Given the description of an element on the screen output the (x, y) to click on. 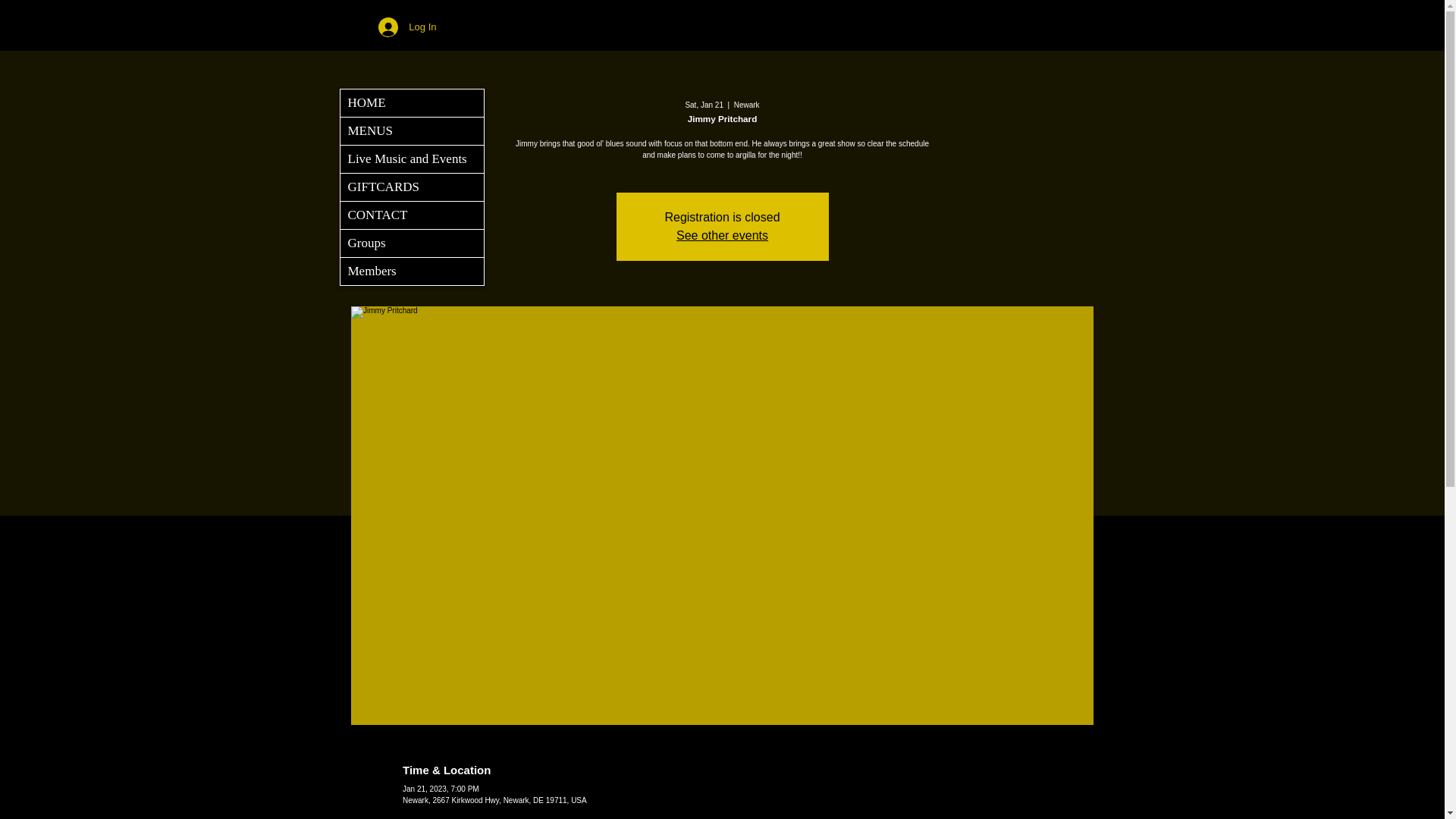
CONTACT (411, 215)
GIFTCARDS (411, 186)
MENUS (411, 130)
Log In (407, 27)
Members (411, 271)
Live Music and Events (411, 158)
See other events (722, 235)
Groups (411, 243)
HOME (411, 103)
